Given the description of an element on the screen output the (x, y) to click on. 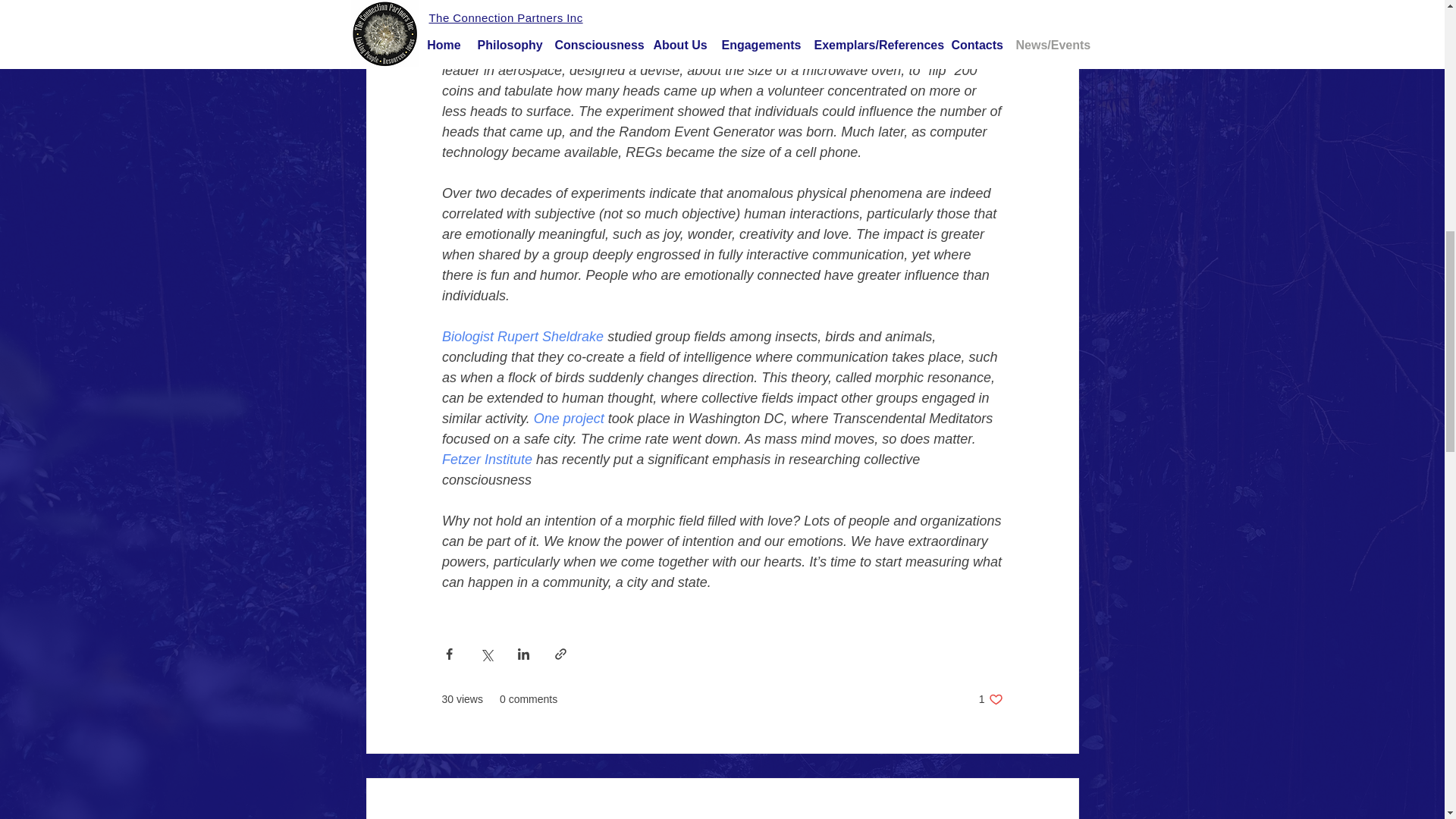
Fetzer Institute (486, 459)
Biologist Rupert Sheldrake (521, 336)
One project (568, 418)
